Given the description of an element on the screen output the (x, y) to click on. 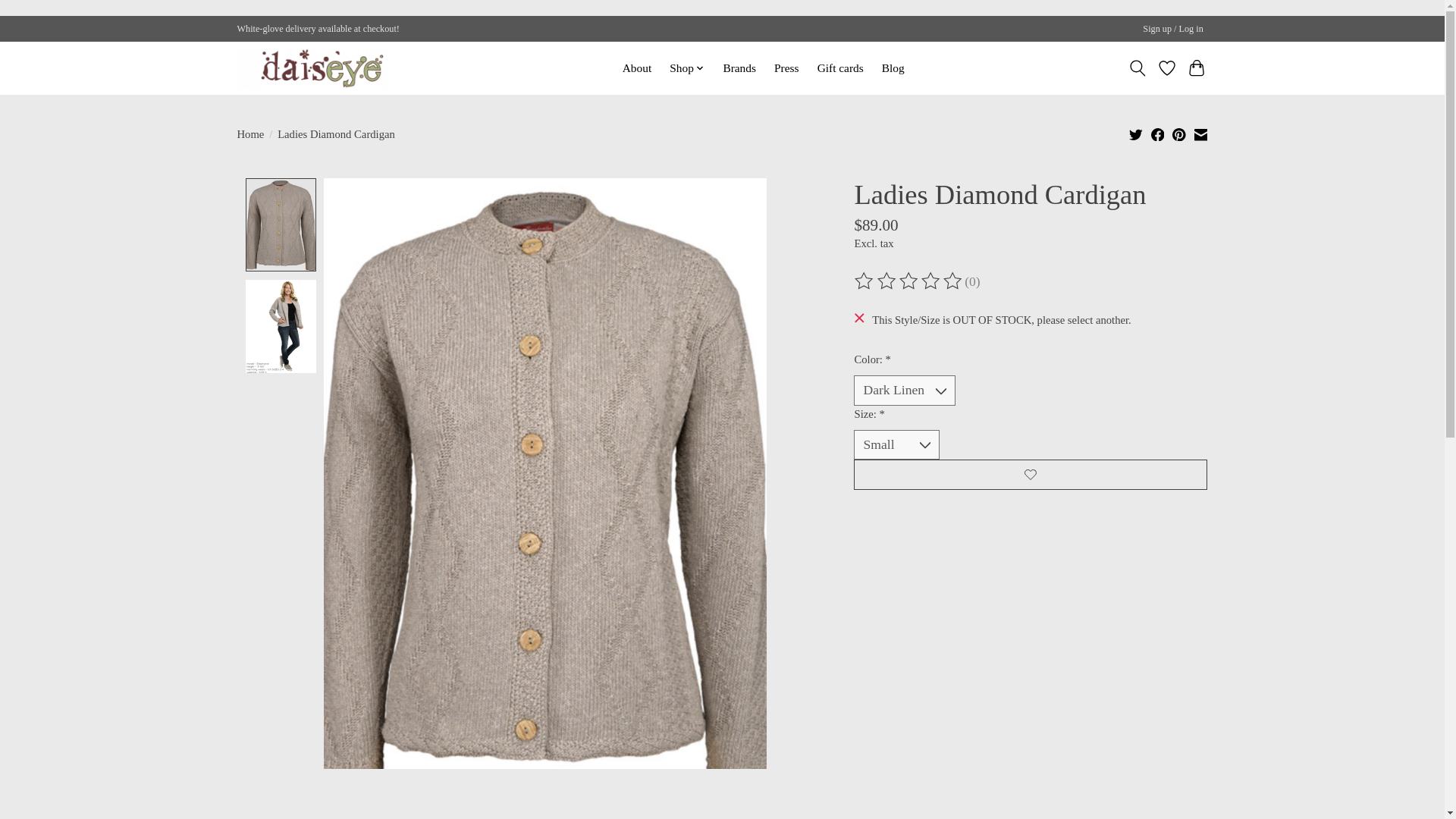
My account (1173, 28)
Share on Pinterest (1178, 133)
Shop (686, 67)
Share by Email (1200, 133)
Share on Facebook (1157, 133)
Share on Twitter (1135, 133)
About (637, 67)
